Given the description of an element on the screen output the (x, y) to click on. 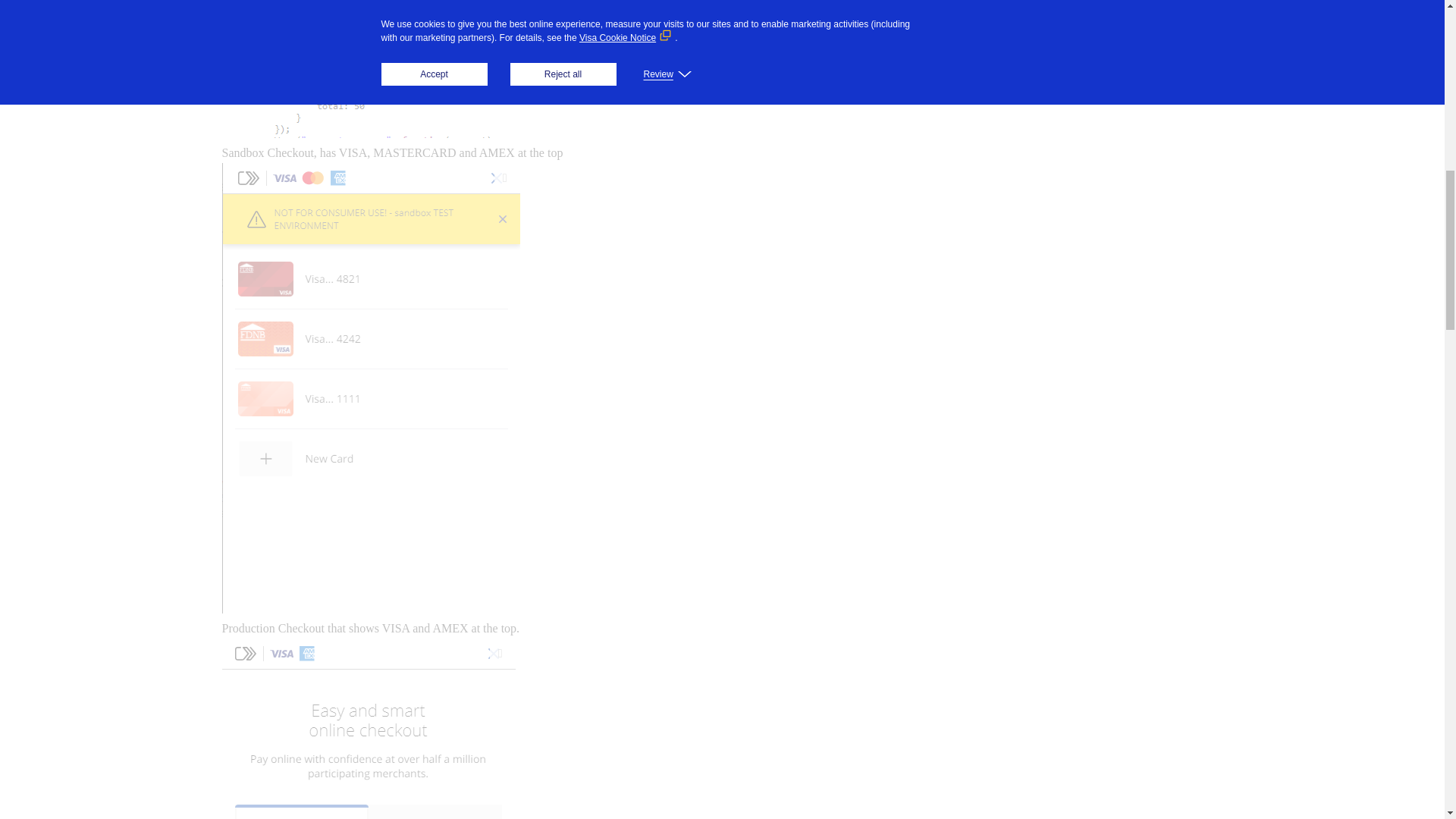
cardBrand function.png (407, 7)
Default Function.png (382, 88)
